Given the description of an element on the screen output the (x, y) to click on. 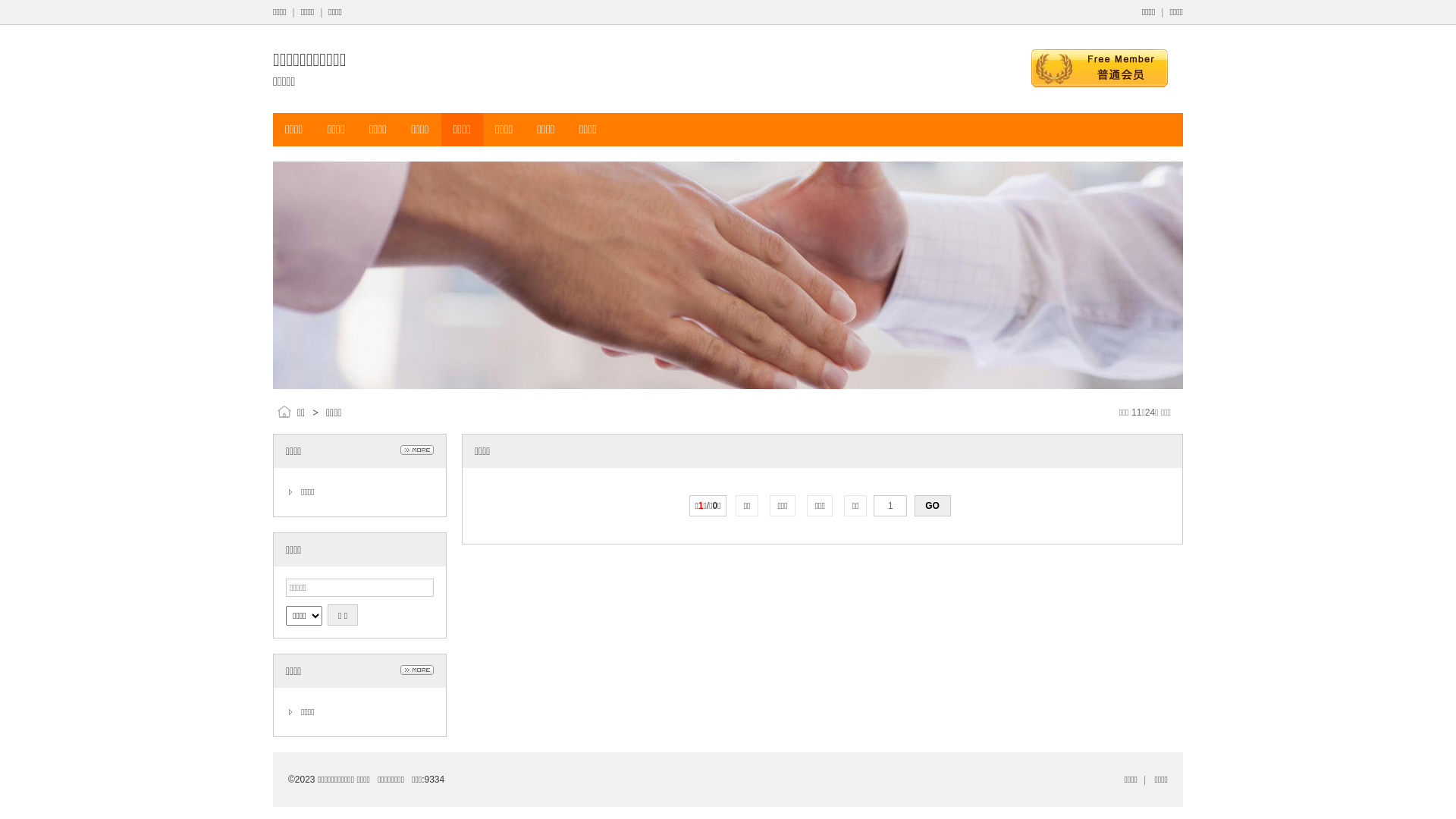
GO Element type: text (932, 505)
